Given the description of an element on the screen output the (x, y) to click on. 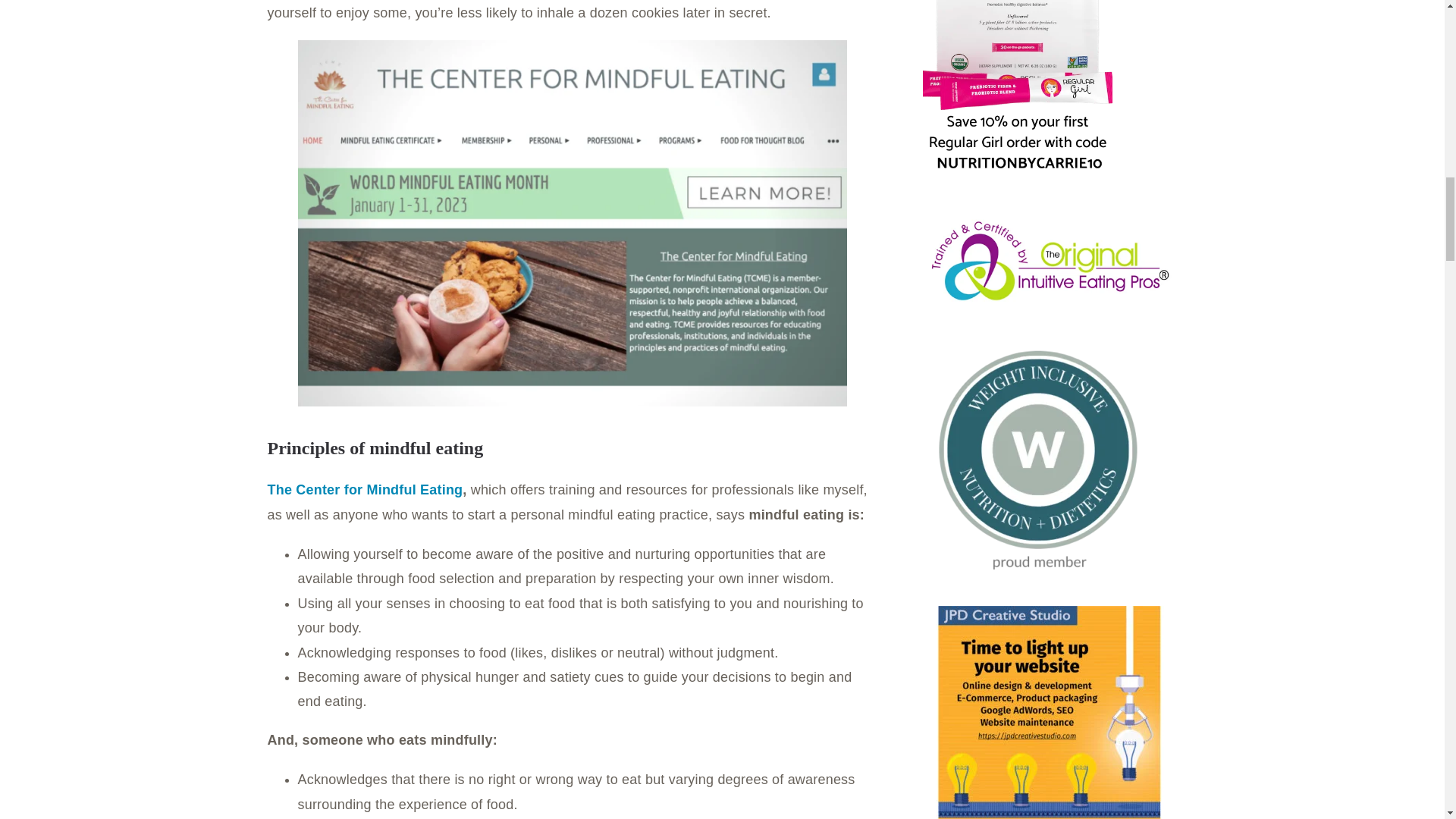
The Center for Mindful Eating (364, 489)
